Given the description of an element on the screen output the (x, y) to click on. 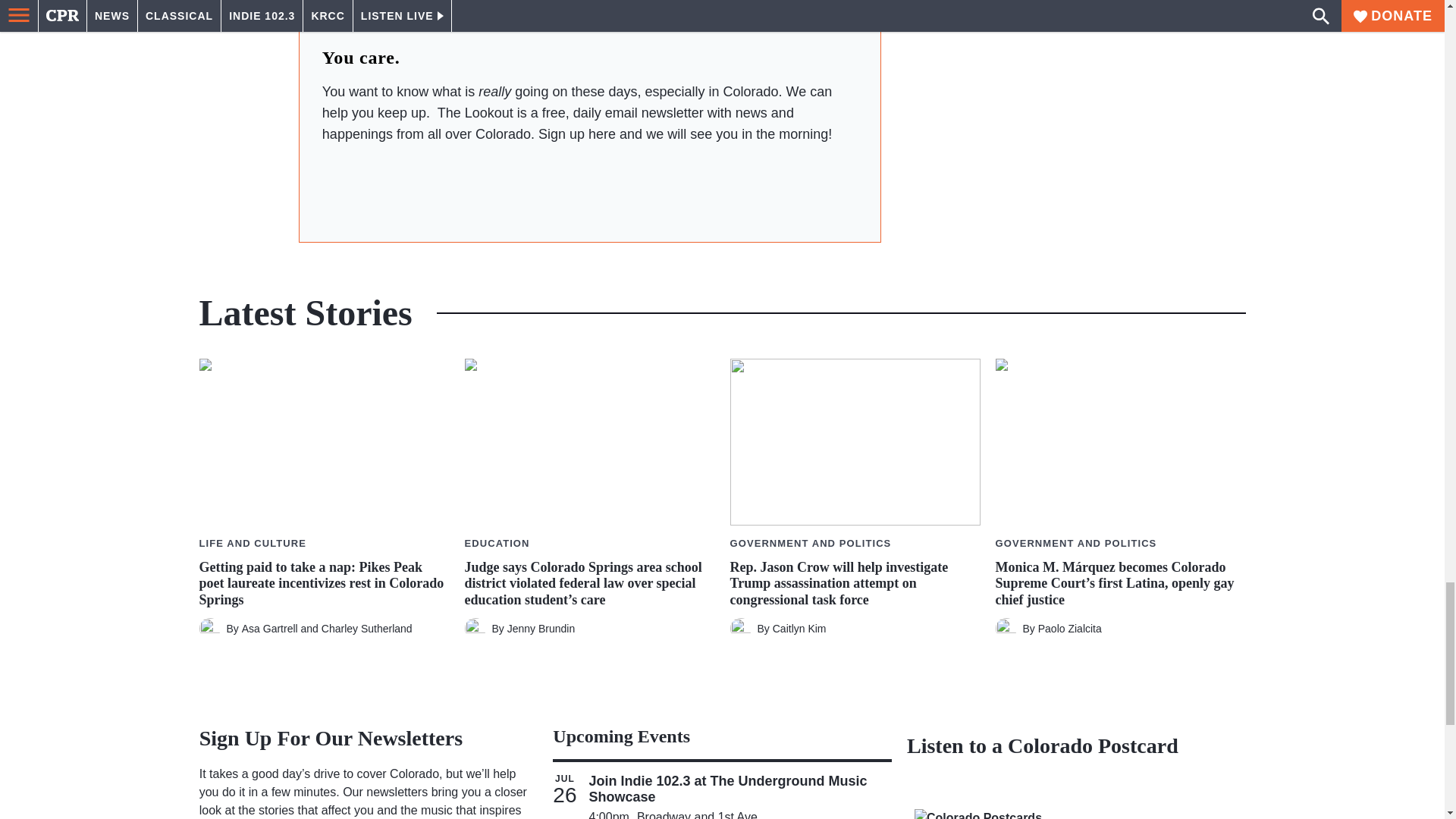
newsArticleSignup (589, 187)
